Given the description of an element on the screen output the (x, y) to click on. 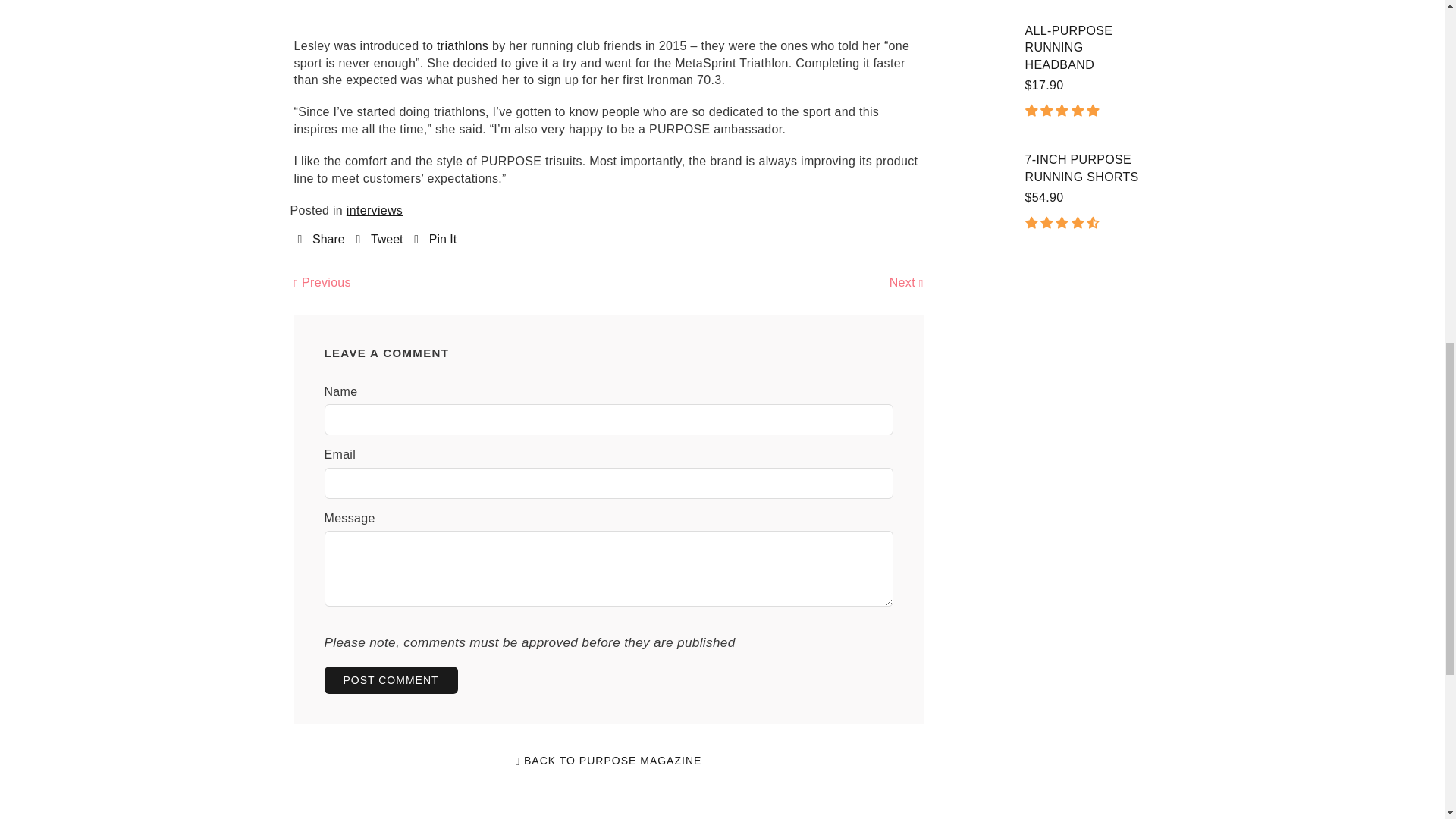
Share on Facebook (320, 239)
Post comment (391, 679)
Pin on Pinterest (435, 239)
Tweet on Twitter (379, 239)
